Given the description of an element on the screen output the (x, y) to click on. 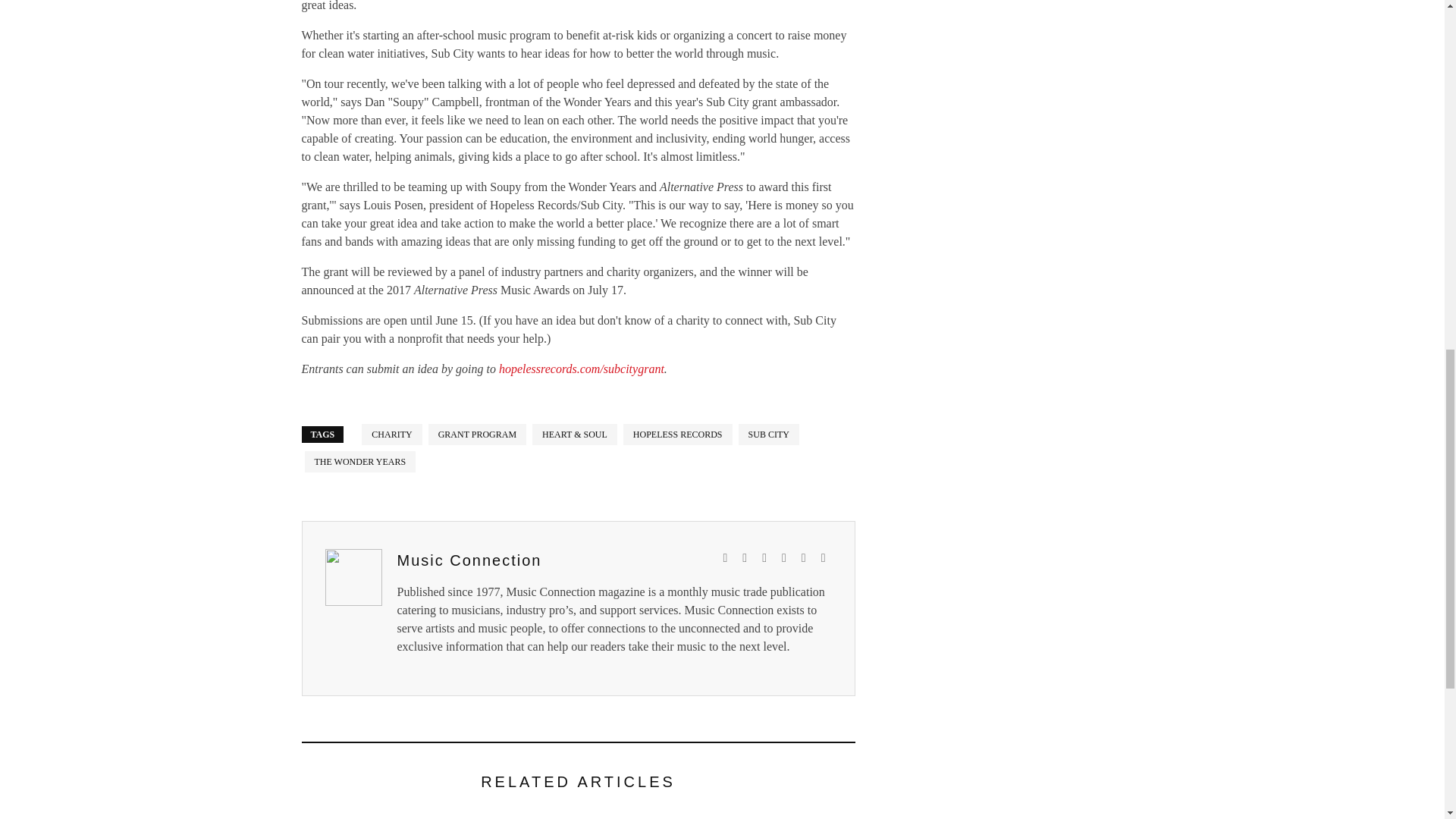
View all posts tagged Hopeless Records (677, 434)
View all posts tagged The Wonder Years (360, 461)
View all posts tagged charity (391, 434)
View all posts tagged Sub City (768, 434)
View all posts tagged grant program (476, 434)
